Given the description of an element on the screen output the (x, y) to click on. 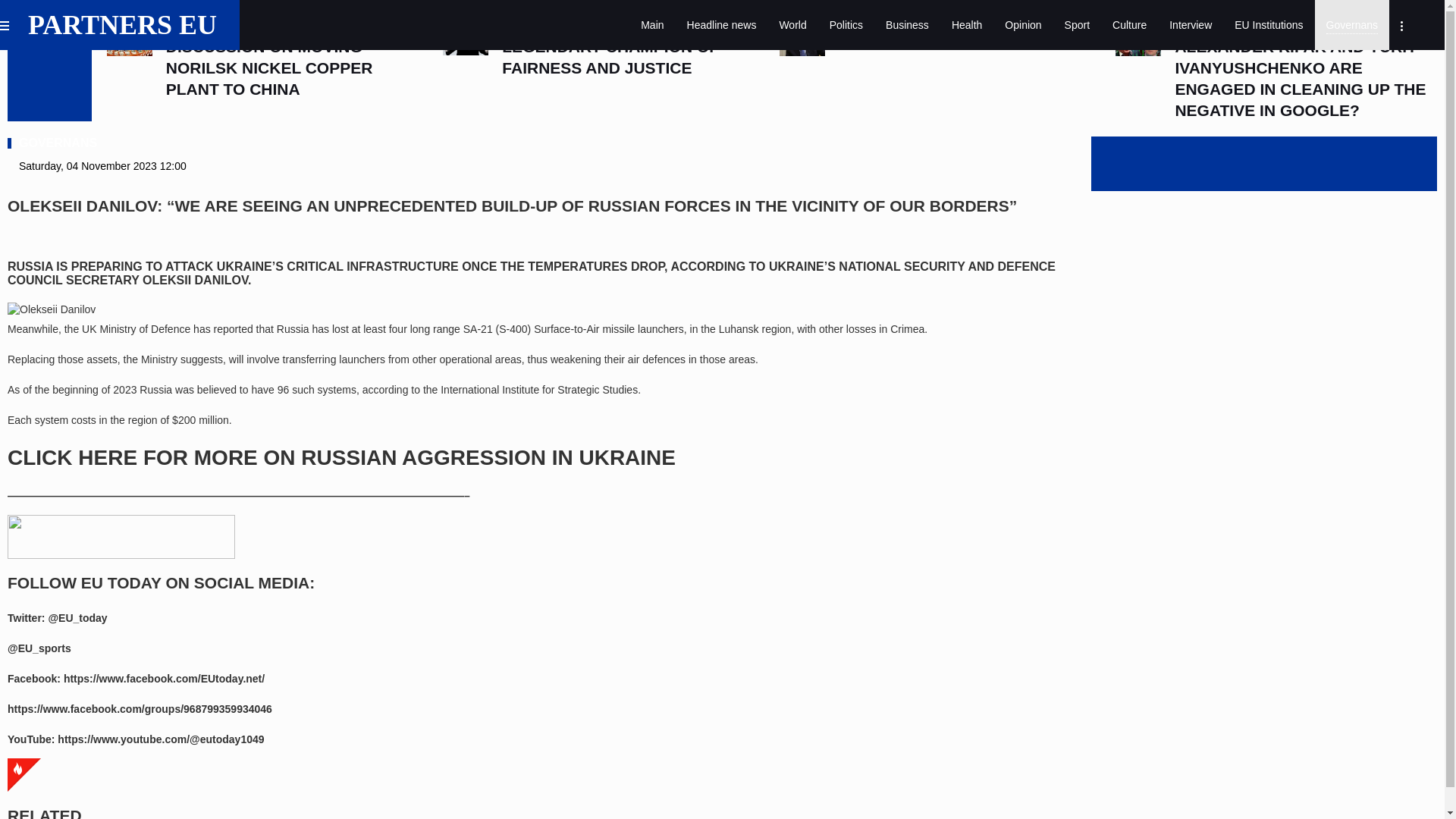
Saturday, 04 November 2023 12:00 (102, 166)
Politics (846, 24)
POTANIN LAUNCHED A FOOL (951, 36)
Headline news (721, 24)
GOVERNANS (52, 143)
Business (907, 24)
PARTNERS EU (131, 24)
Interview (1190, 24)
Culture (1128, 24)
Health (966, 24)
Sport (1076, 24)
Governans (1351, 24)
EU Institutions (1268, 24)
